Given the description of an element on the screen output the (x, y) to click on. 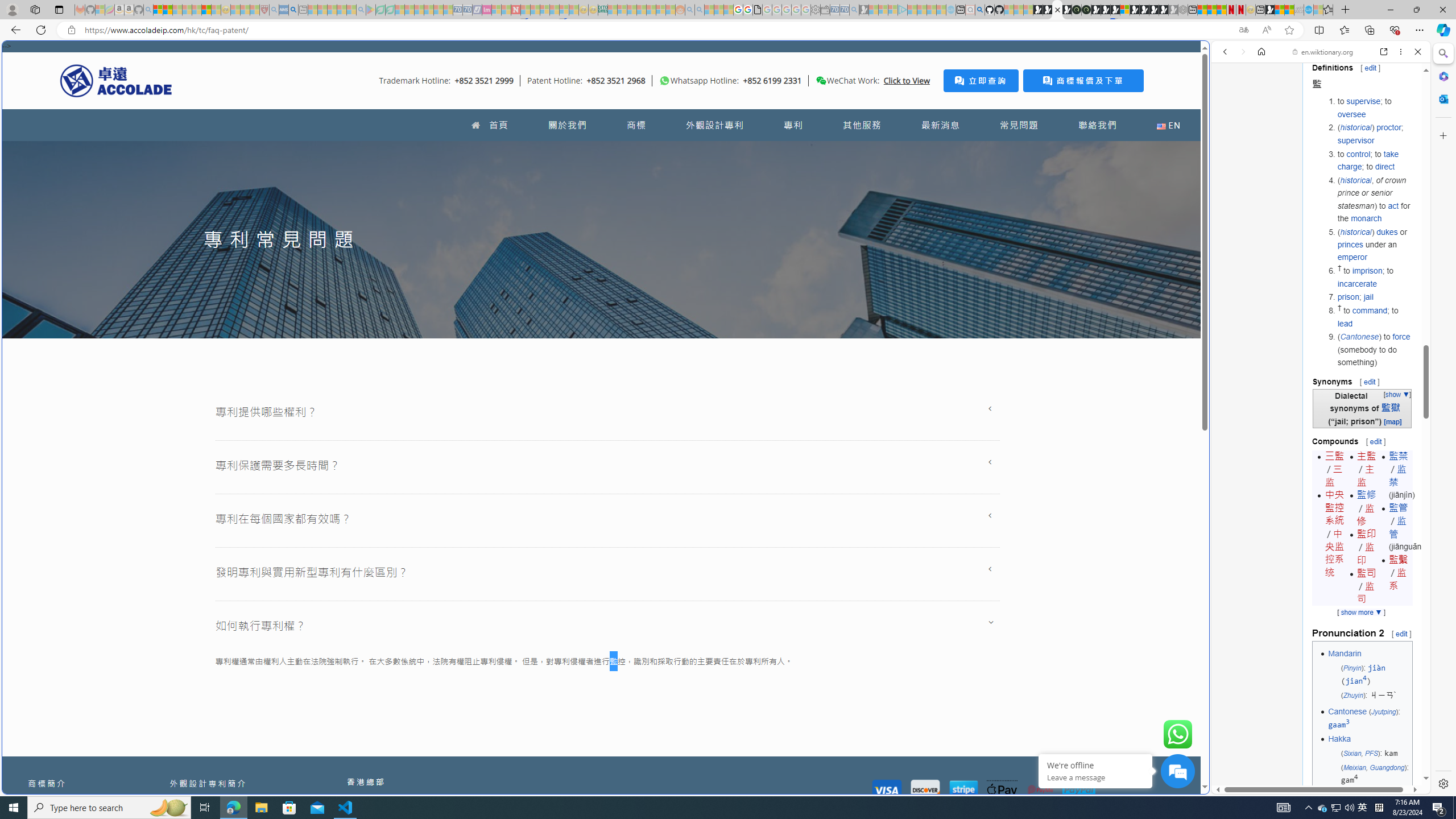
BUC (1381, 796)
act (1393, 205)
Jyutping (1383, 711)
